Given the description of an element on the screen output the (x, y) to click on. 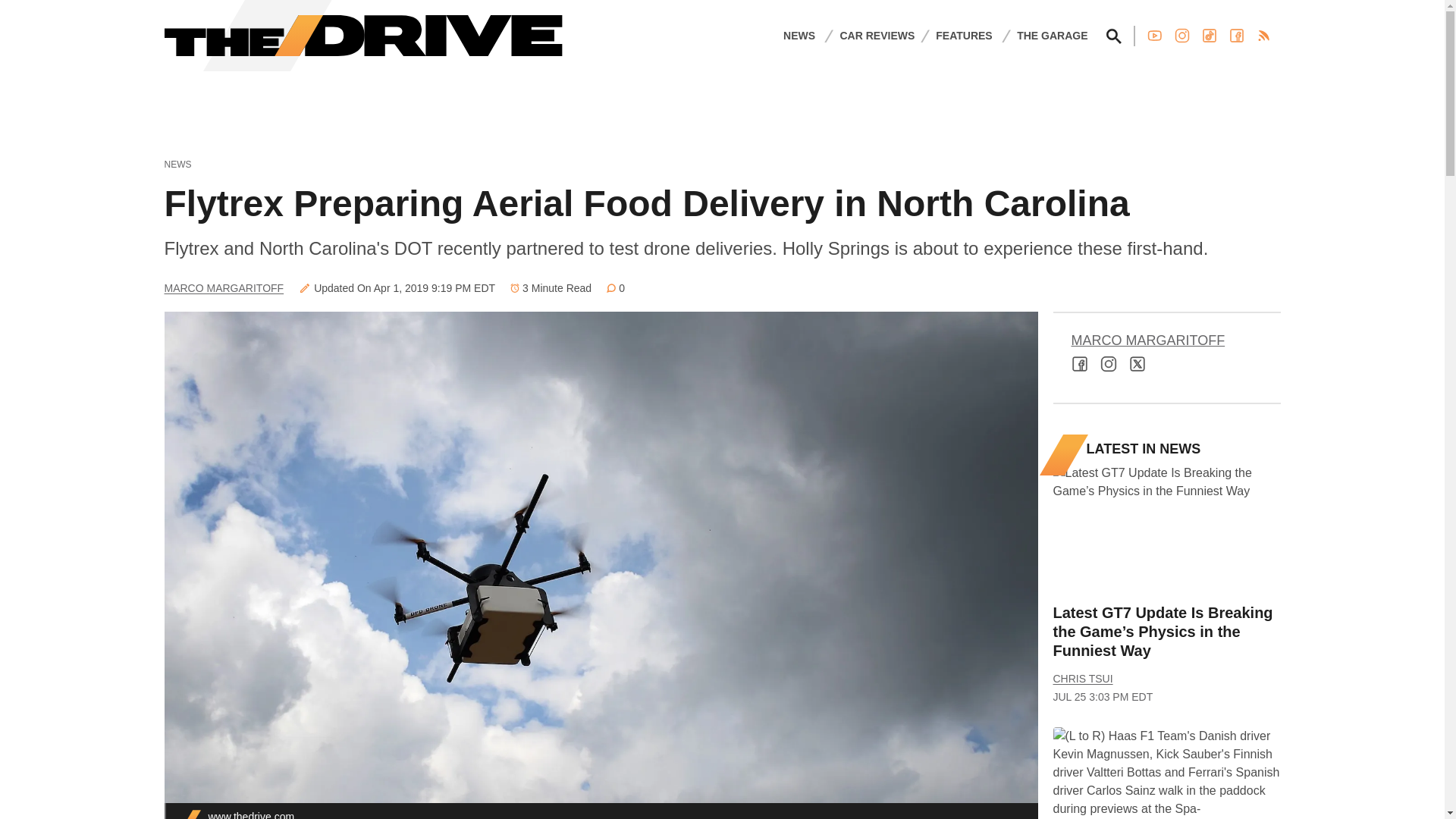
NEWS (799, 34)
